Given the description of an element on the screen output the (x, y) to click on. 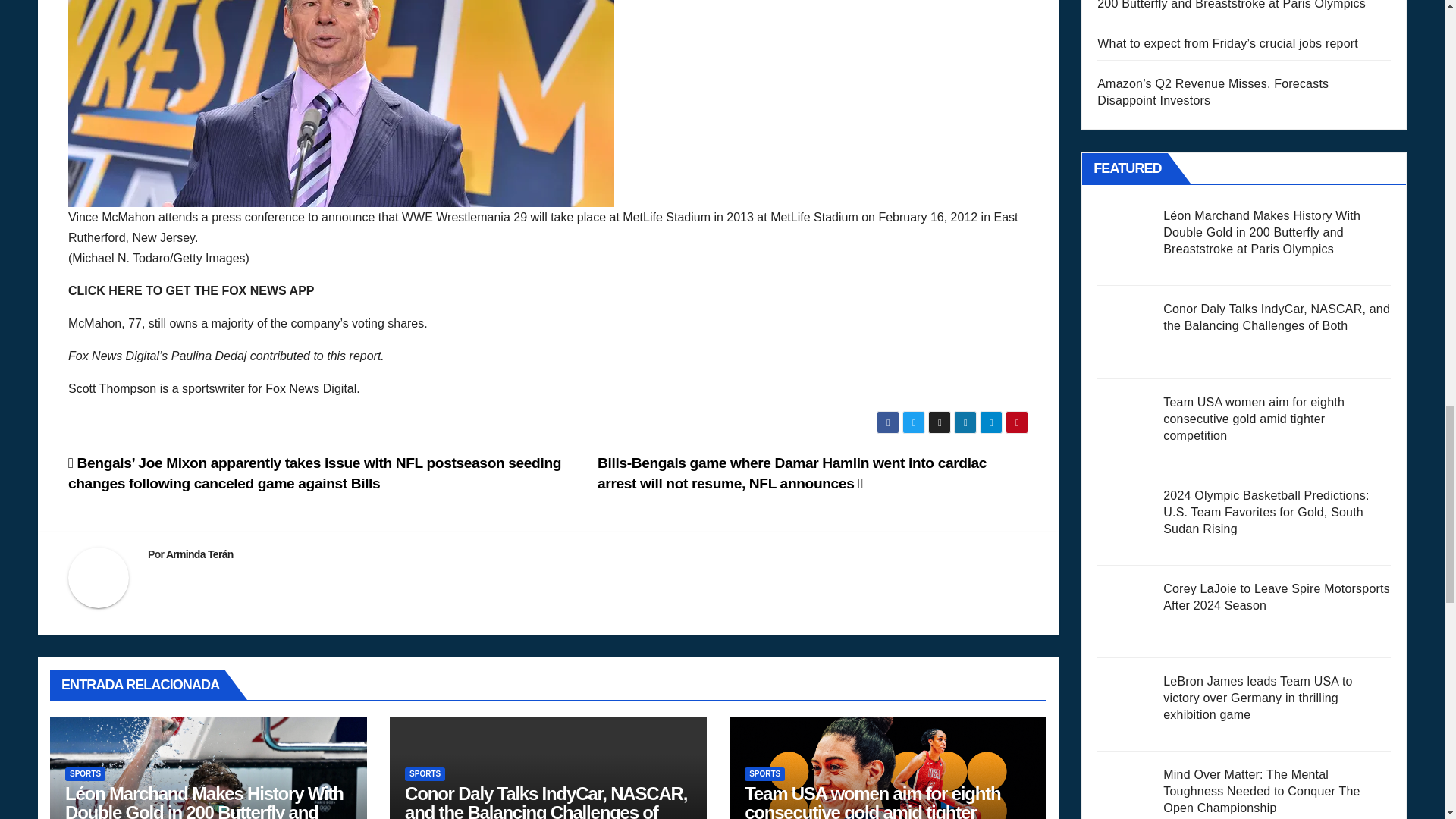
SPORTS (424, 774)
Corey LaJoie to Leave Spire Motorsports After 2024 Season (1125, 611)
SPORTS (84, 774)
SPORTS (764, 774)
